Given the description of an element on the screen output the (x, y) to click on. 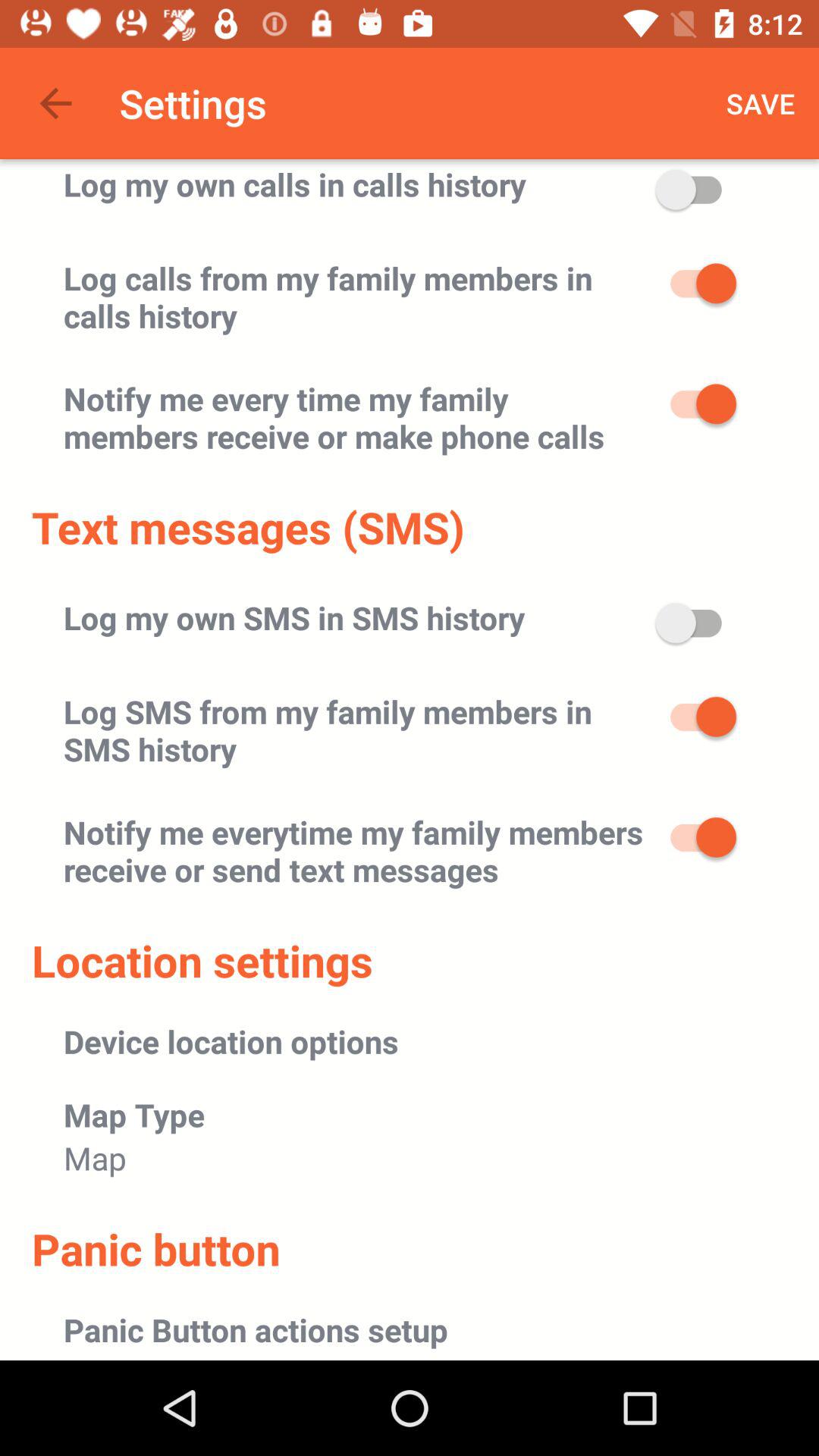
press icon above device location options icon (202, 960)
